Given the description of an element on the screen output the (x, y) to click on. 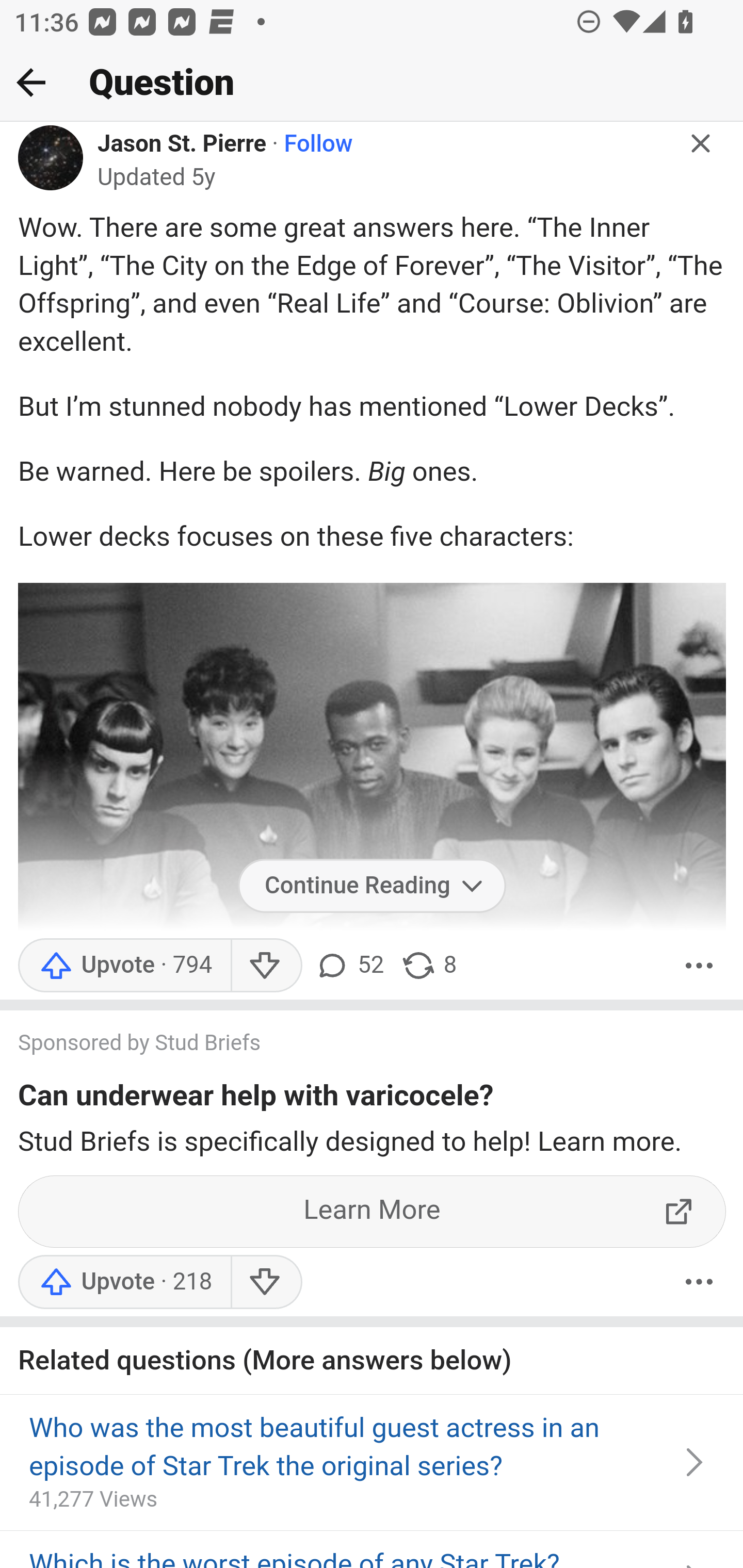
Back (30, 82)
